Given the description of an element on the screen output the (x, y) to click on. 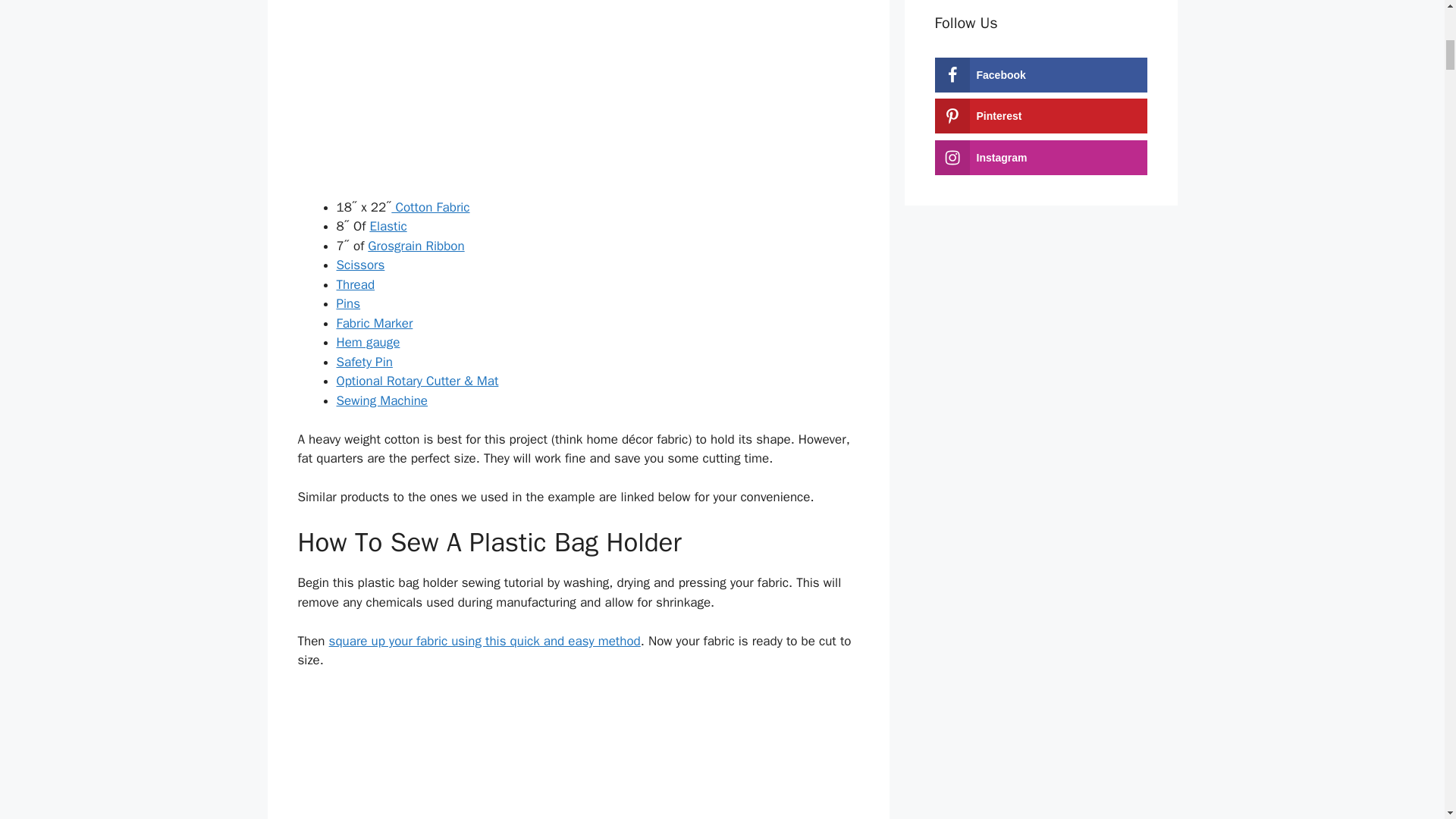
Scissors (360, 264)
Follow on Pinterest (1040, 115)
Thread (355, 284)
Pins (348, 303)
Sewing Machine (382, 400)
Follow on Instagram (1040, 156)
Elastic (387, 226)
Safety Pin (364, 361)
Grosgrain Ribbon (416, 245)
Follow on Facebook (1040, 74)
Cotton Fabric (429, 207)
Fabric Marker (374, 323)
Hem gauge (368, 342)
square up your fabric using this quick and easy method (484, 641)
